Given the description of an element on the screen output the (x, y) to click on. 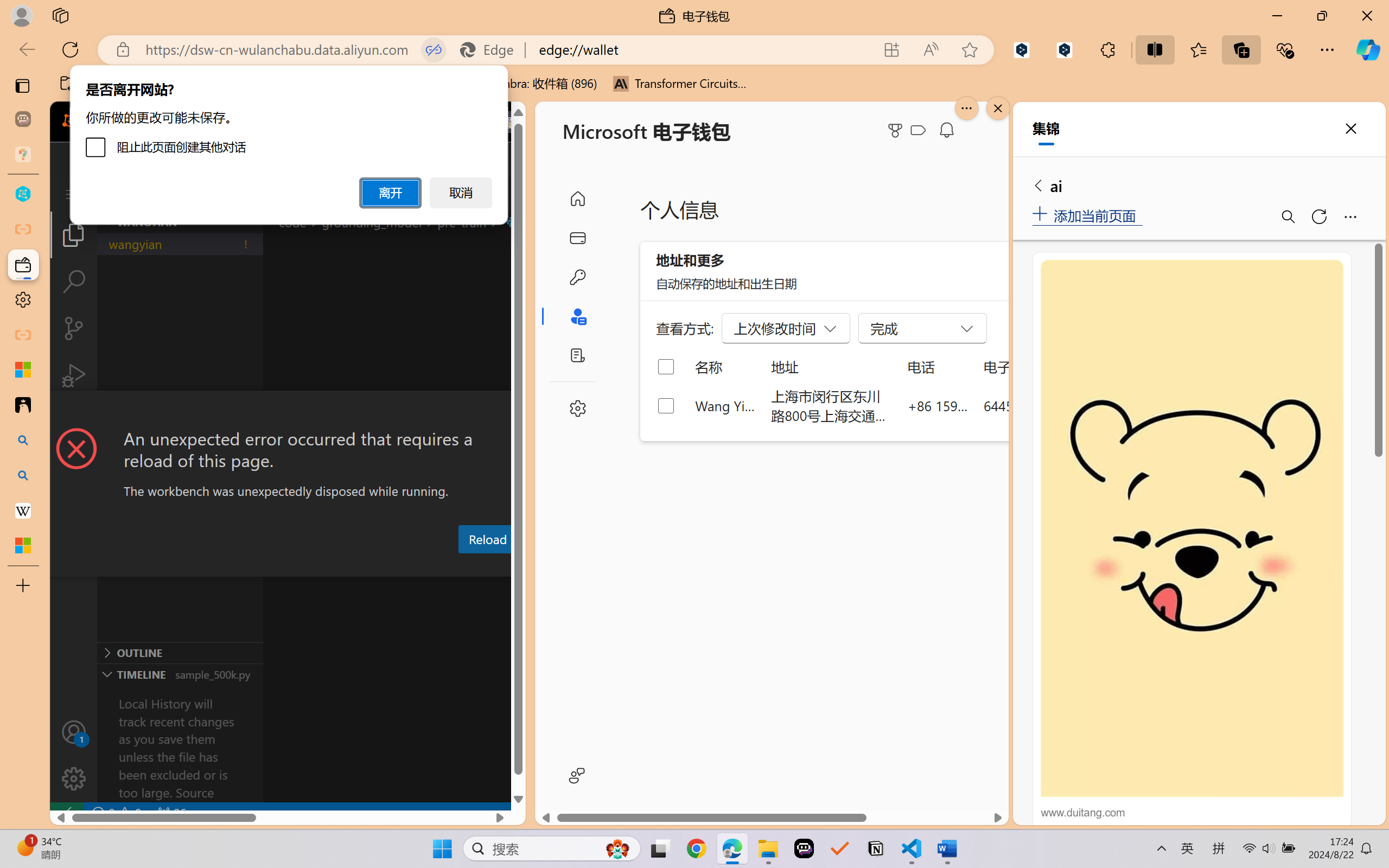
Copilot (Ctrl+Shift+.) (1368, 49)
Class: actions-container (287, 410)
